Given the description of an element on the screen output the (x, y) to click on. 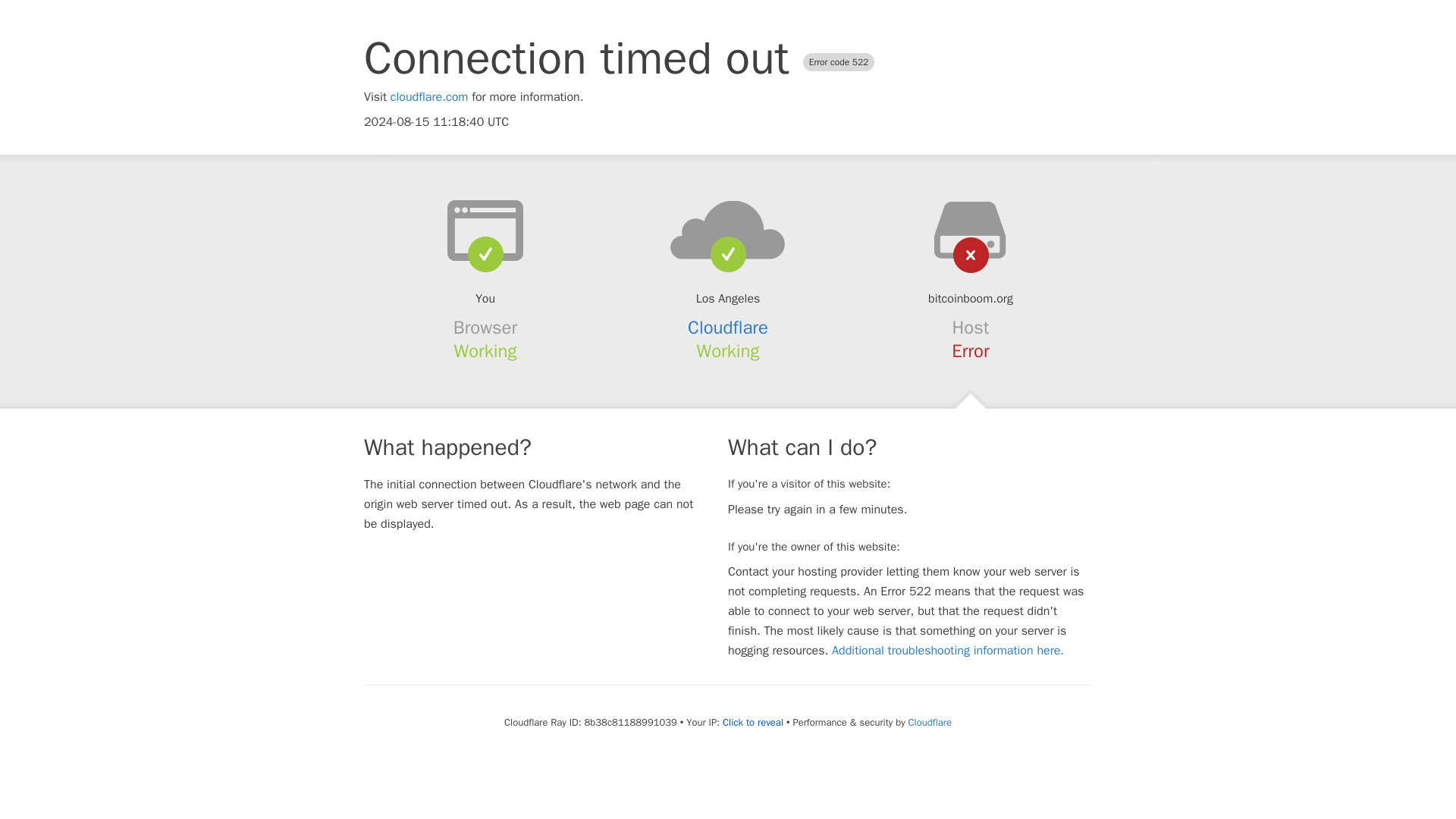
Cloudflare (930, 721)
Additional troubleshooting information here. (947, 650)
cloudflare.com (429, 96)
Click to reveal (752, 722)
Cloudflare (727, 327)
